Given the description of an element on the screen output the (x, y) to click on. 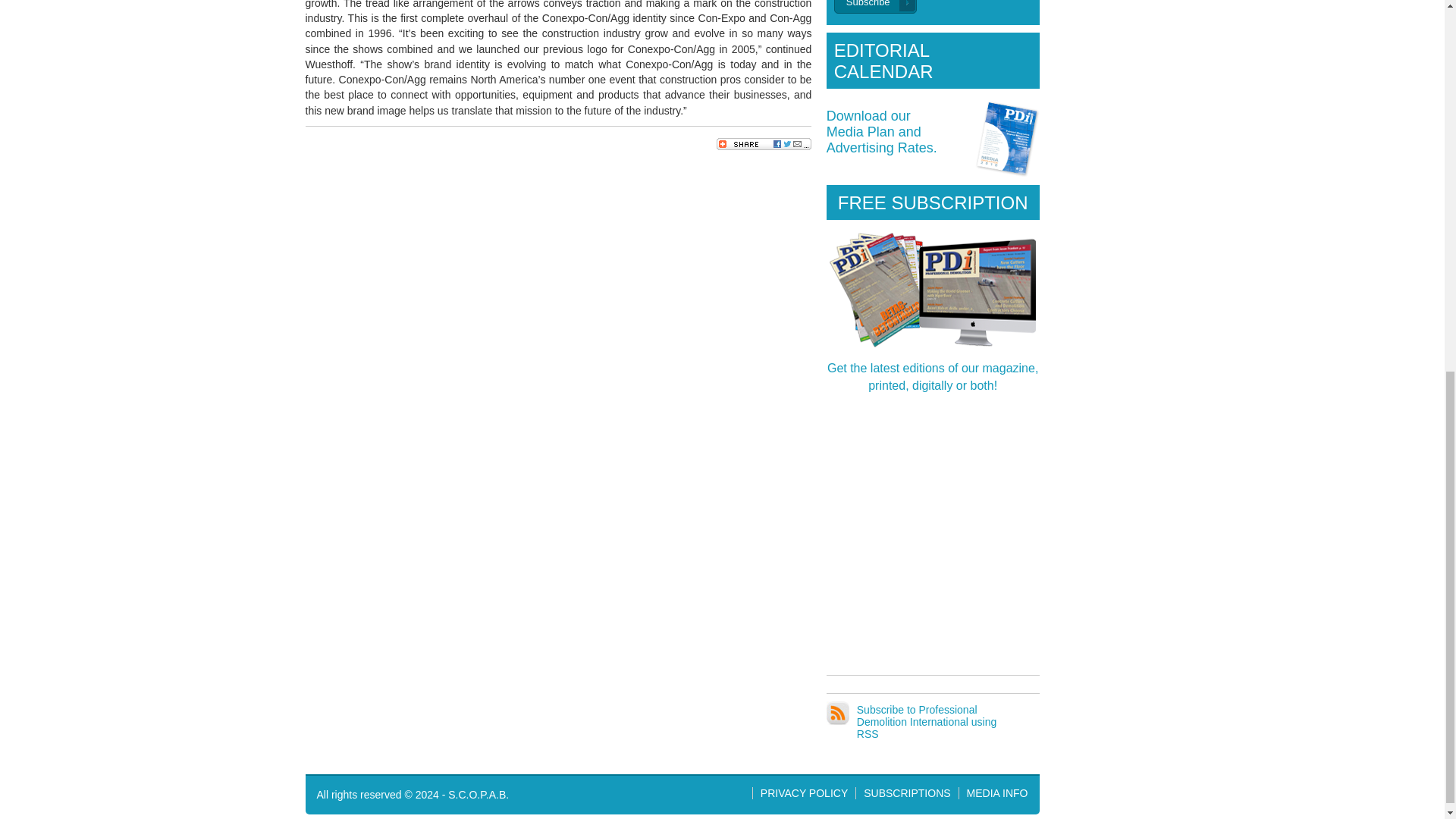
Subscribe (875, 6)
Subscribe to Professional Demolition International using RSS (926, 721)
SUBSCRIPTIONS (906, 793)
MEDIA INFO (882, 131)
PRIVACY POLICY (996, 793)
